Given the description of an element on the screen output the (x, y) to click on. 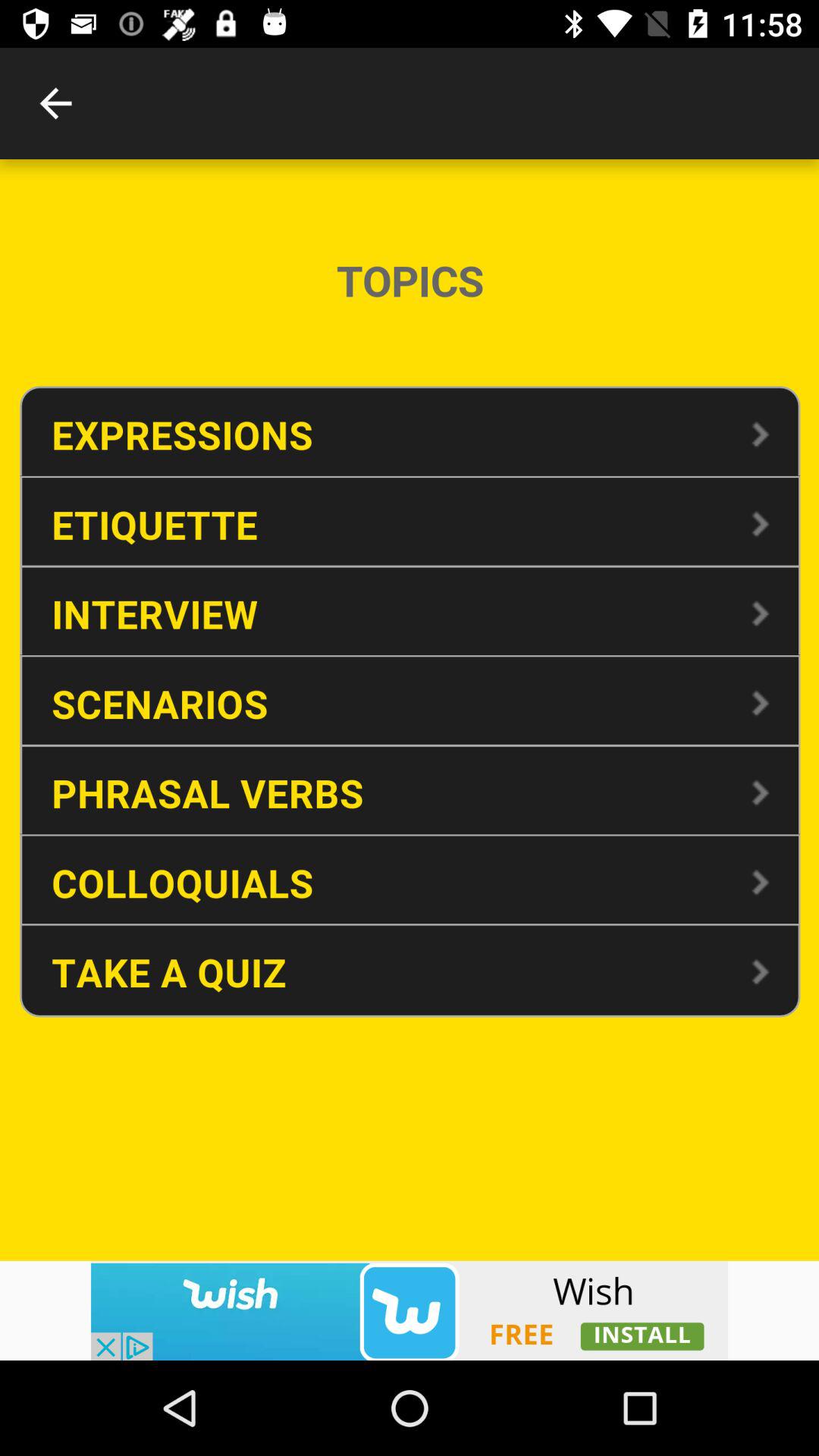
open advertisement (409, 1310)
